Given the description of an element on the screen output the (x, y) to click on. 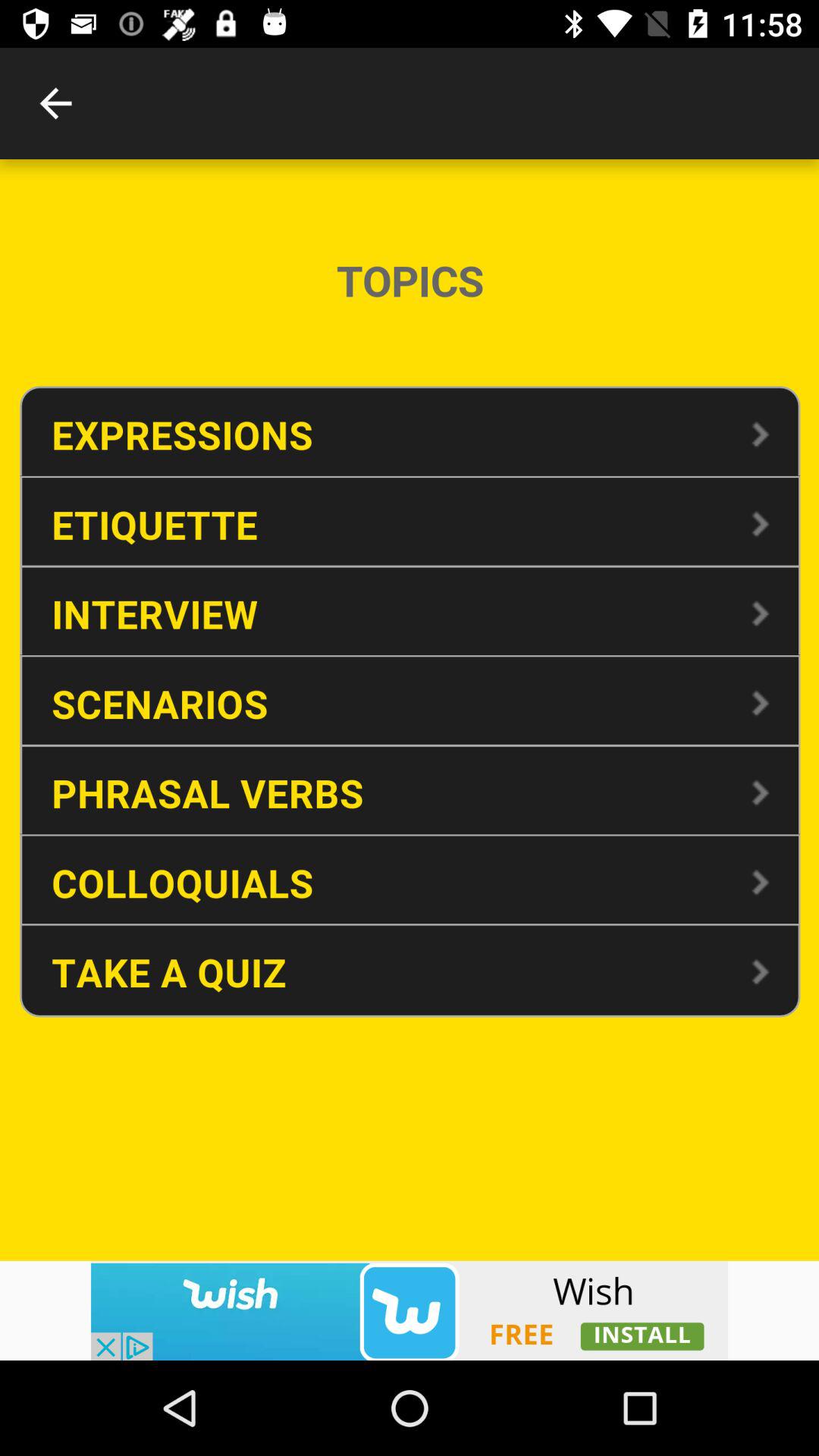
open advertisement (409, 1310)
